Given the description of an element on the screen output the (x, y) to click on. 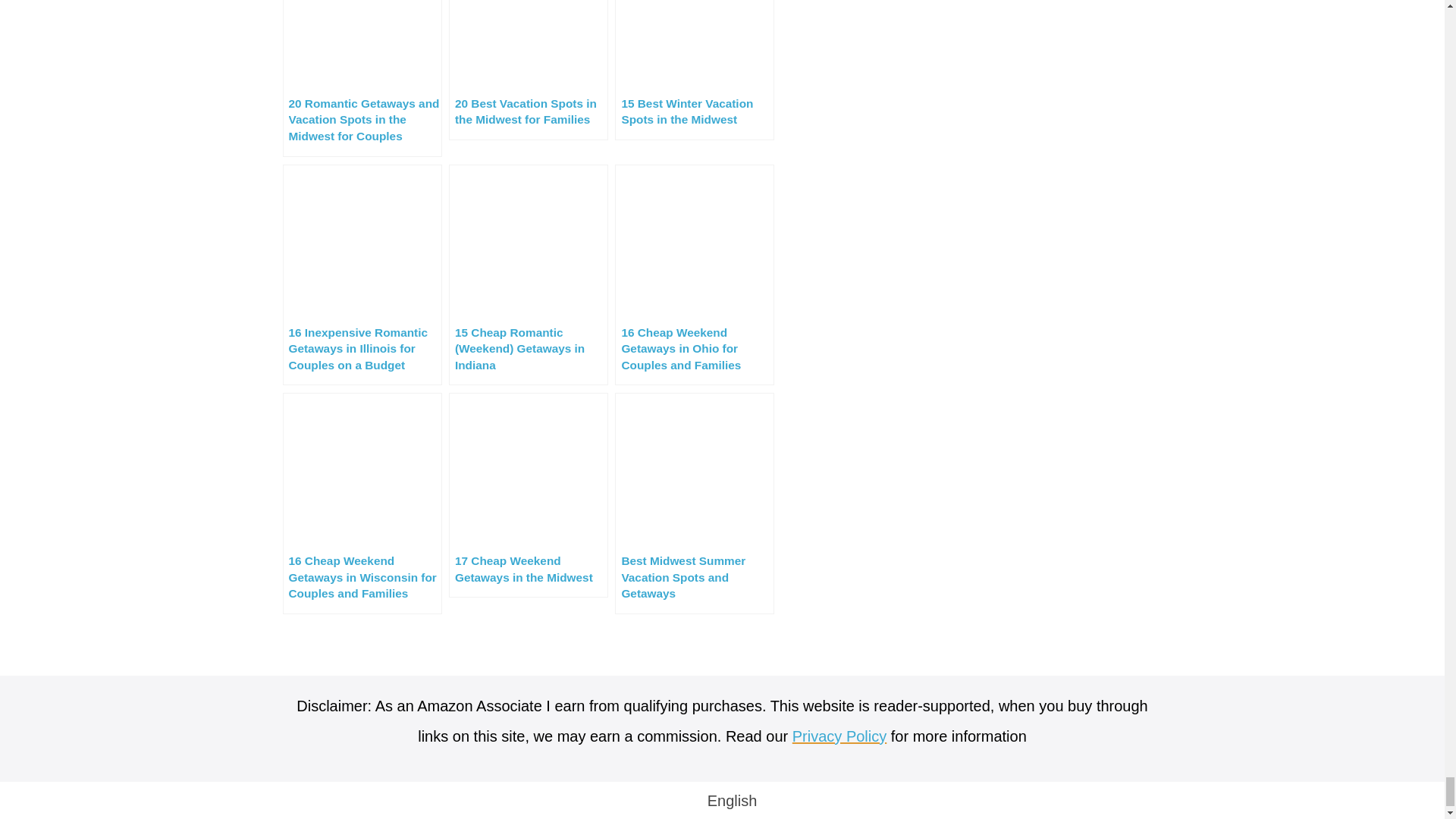
20 Best Vacation Spots in the Midwest for Families (528, 70)
15 Best Winter Vacation Spots in the Midwest (694, 70)
